Given the description of an element on the screen output the (x, y) to click on. 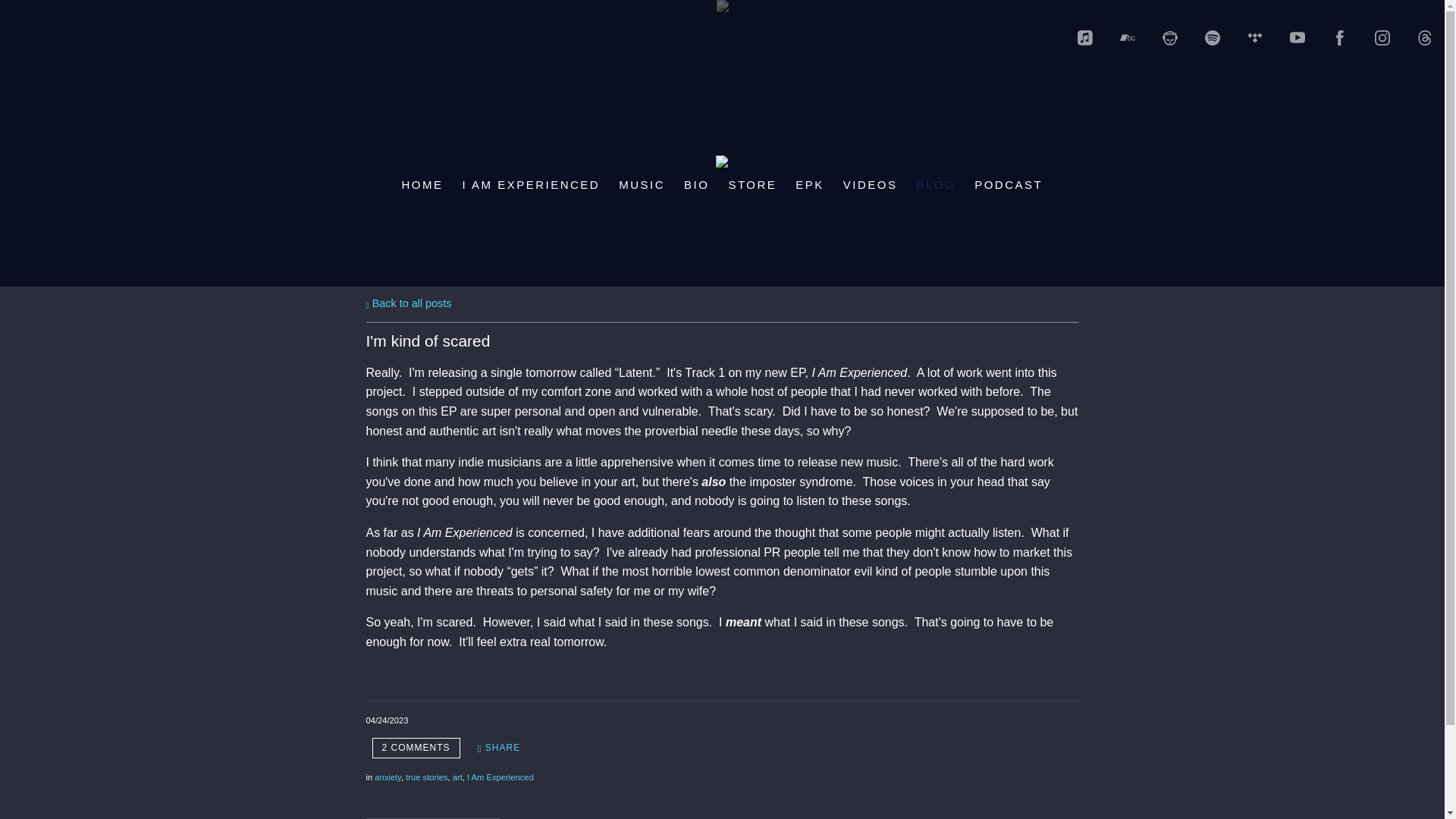
I AM EXPERIENCED (531, 183)
MUSIC (641, 183)
HOME (422, 183)
BIO (696, 183)
STORE (752, 183)
